Given the description of an element on the screen output the (x, y) to click on. 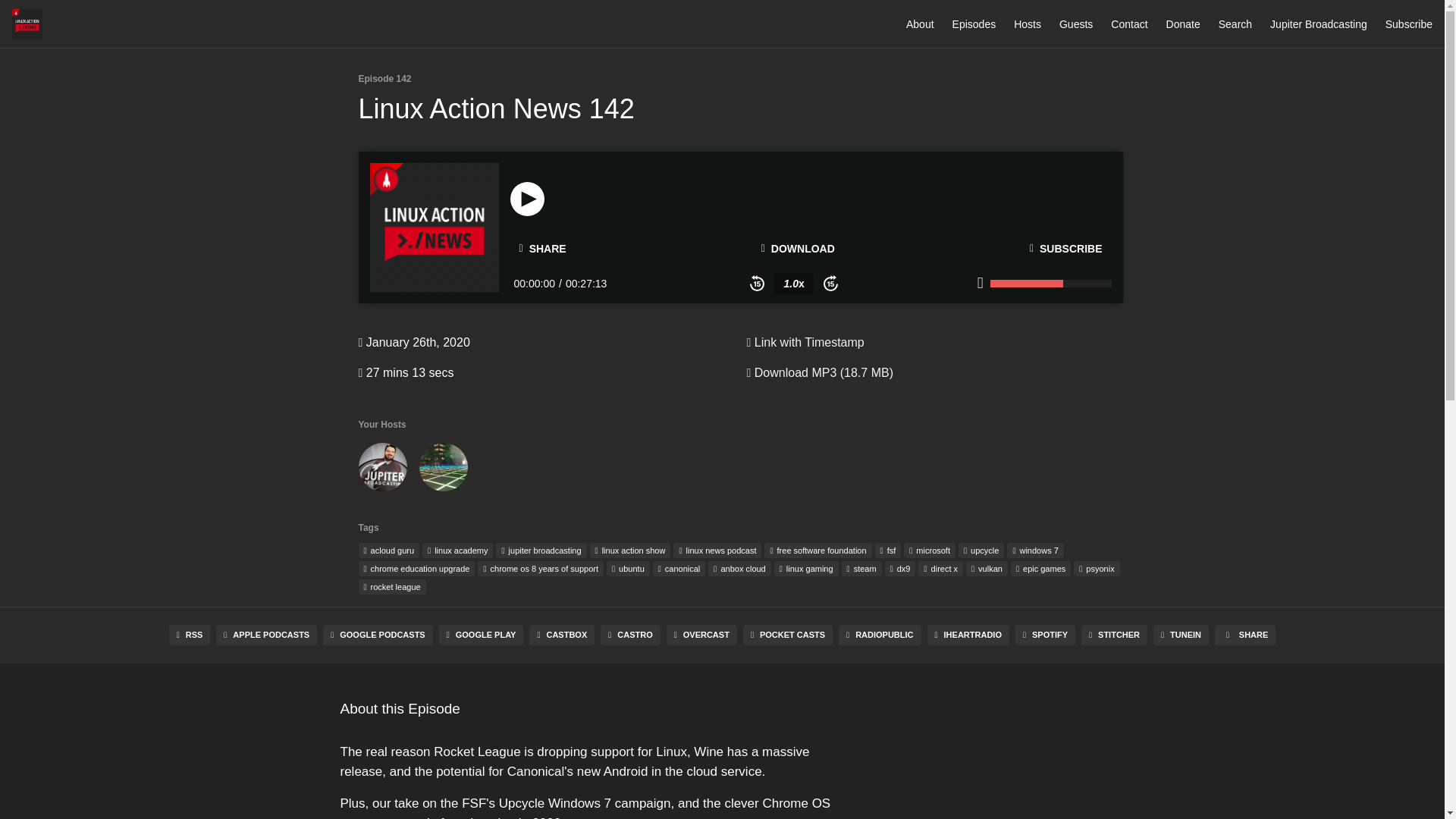
microsoft (929, 549)
acloud guru (388, 549)
Subscribe (1409, 24)
linux academy (457, 549)
About (919, 24)
windows 7 (1034, 549)
SHARE (542, 248)
Contact (1128, 24)
Hosts (1027, 24)
free software foundation (817, 549)
chrome education upgrade (416, 568)
Link with Timestamp (804, 341)
Joe Ressington (443, 470)
Jupiter Broadcasting (1318, 24)
linux news podcast (716, 549)
